Given the description of an element on the screen output the (x, y) to click on. 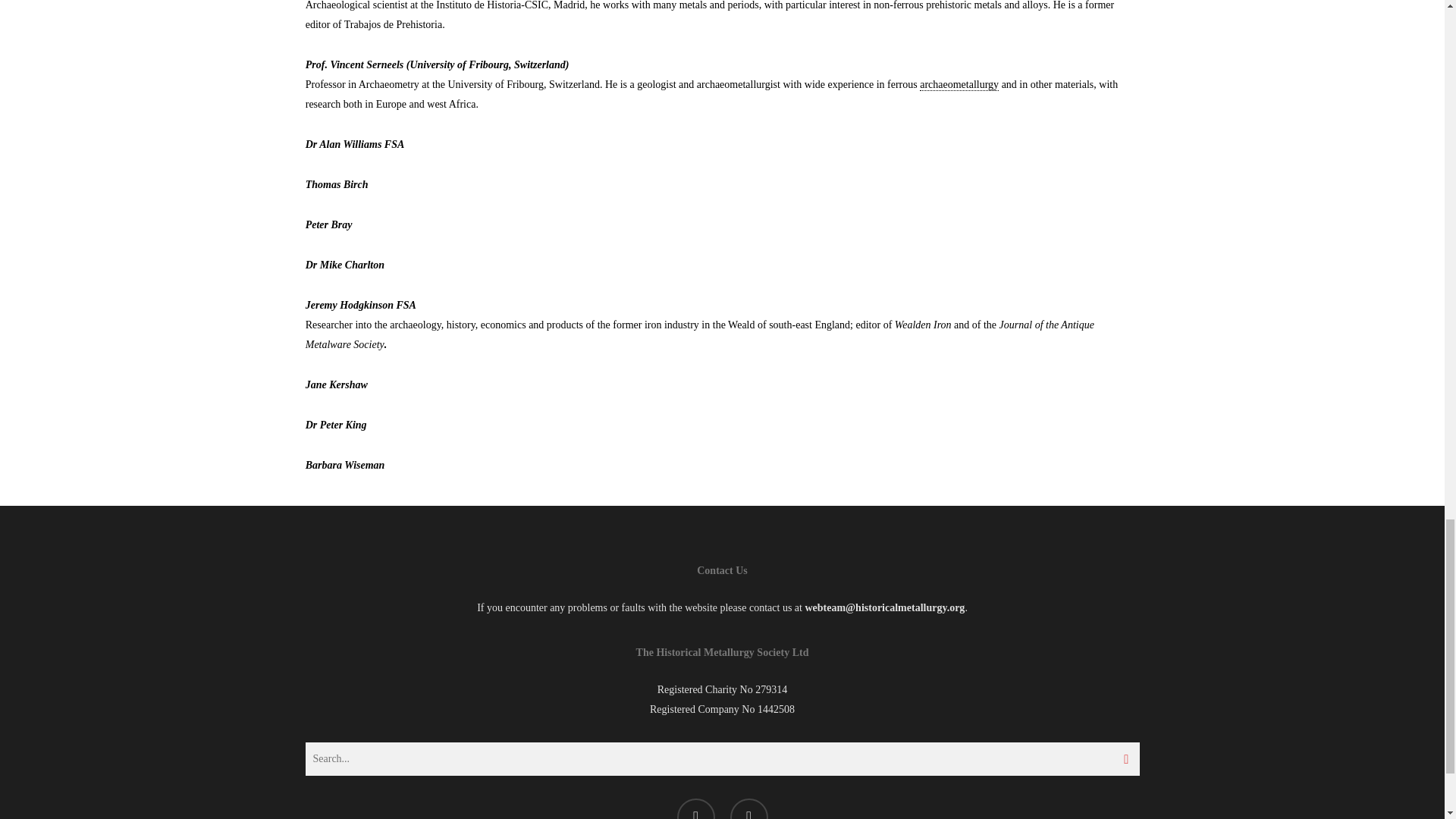
Search for: (721, 758)
